Given the description of an element on the screen output the (x, y) to click on. 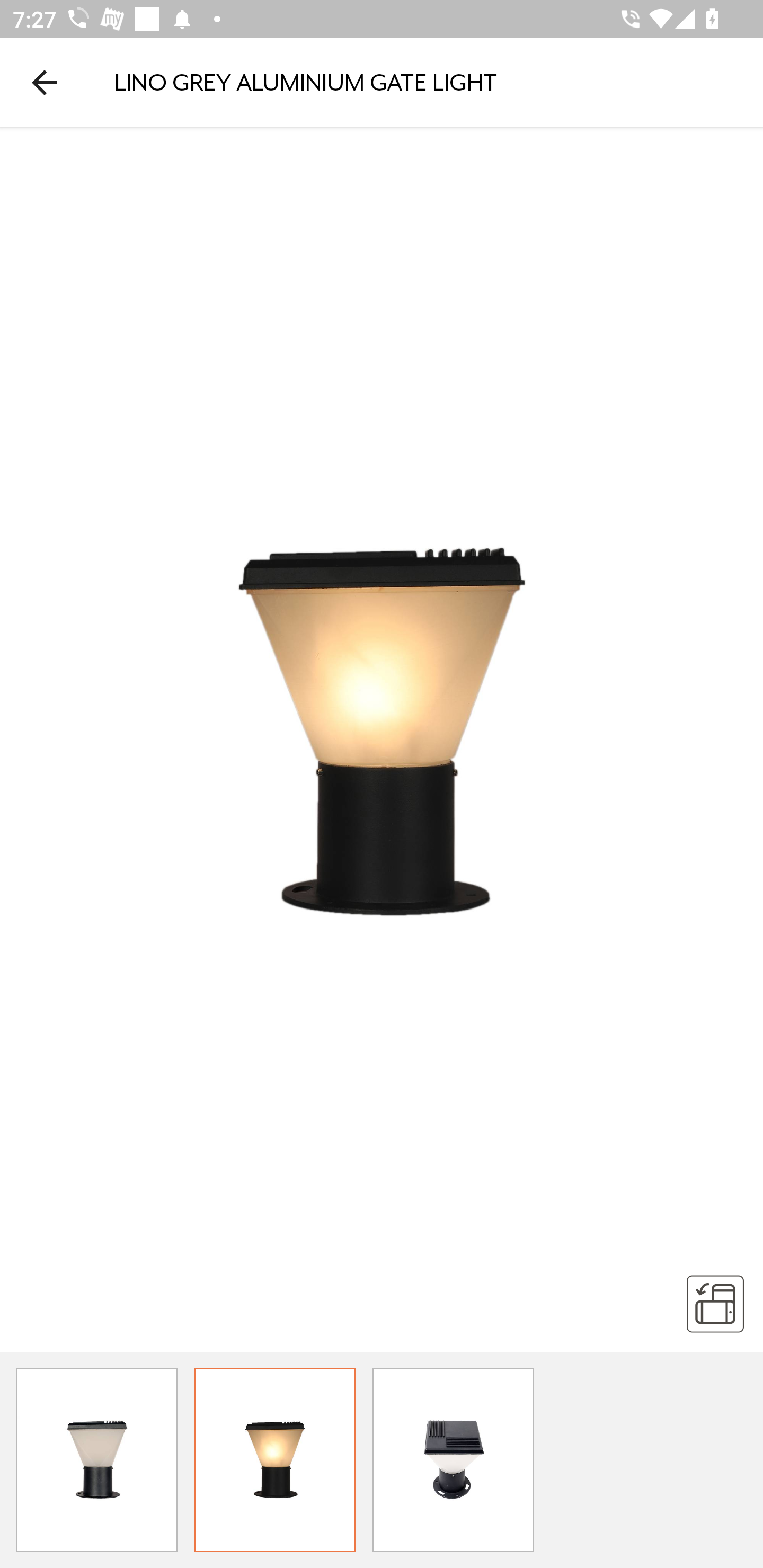
Navigate up (44, 82)
 (715, 1302)
